Given the description of an element on the screen output the (x, y) to click on. 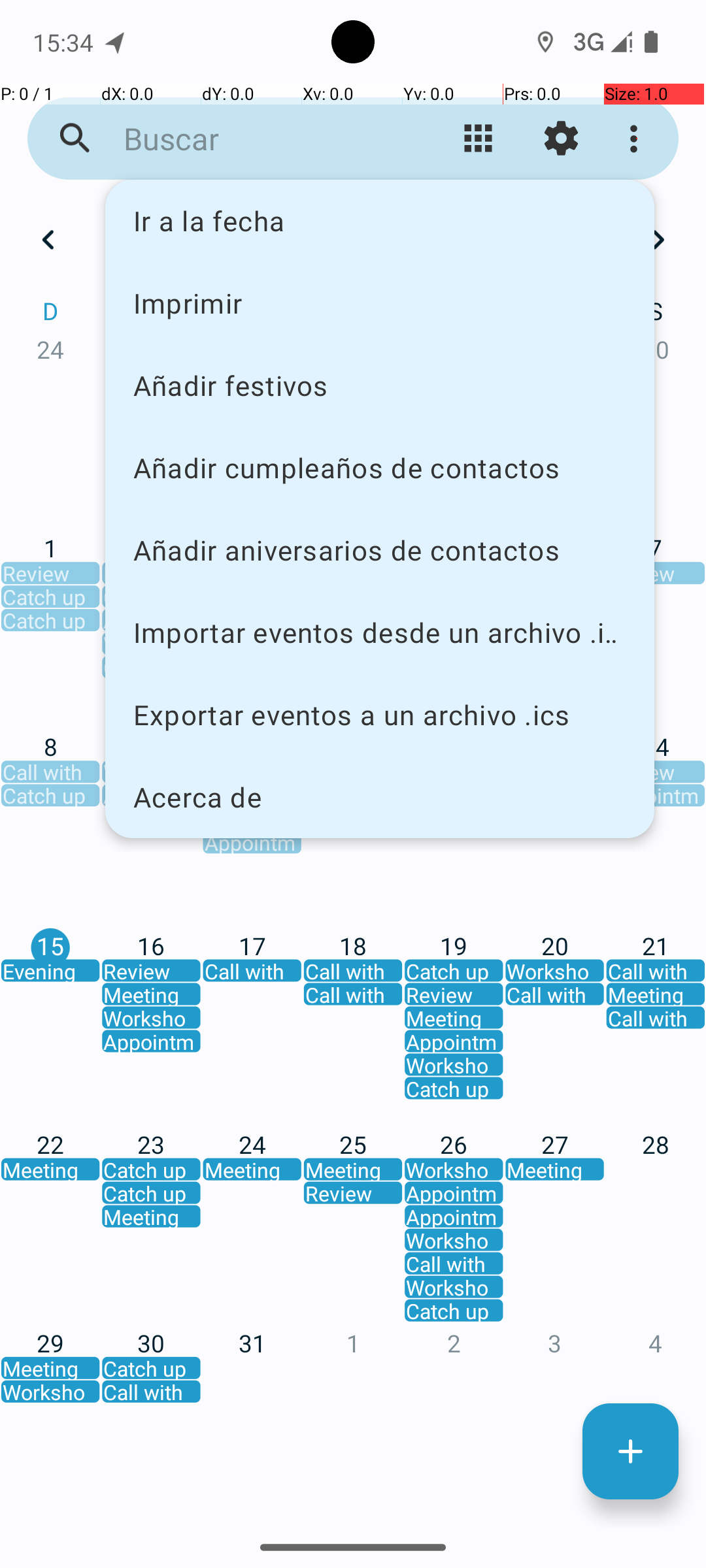
Ir a la fecha Element type: android.widget.TextView (379, 220)
Imprimir Element type: android.widget.TextView (379, 302)
Añadir festivos Element type: android.widget.TextView (379, 384)
Añadir cumpleaños de contactos Element type: android.widget.TextView (379, 467)
Añadir aniversarios de contactos Element type: android.widget.TextView (379, 549)
Importar eventos desde un archivo .ics Element type: android.widget.TextView (379, 631)
Exportar eventos a un archivo .ics Element type: android.widget.TextView (379, 714)
Acerca de Element type: android.widget.TextView (379, 796)
